Given the description of an element on the screen output the (x, y) to click on. 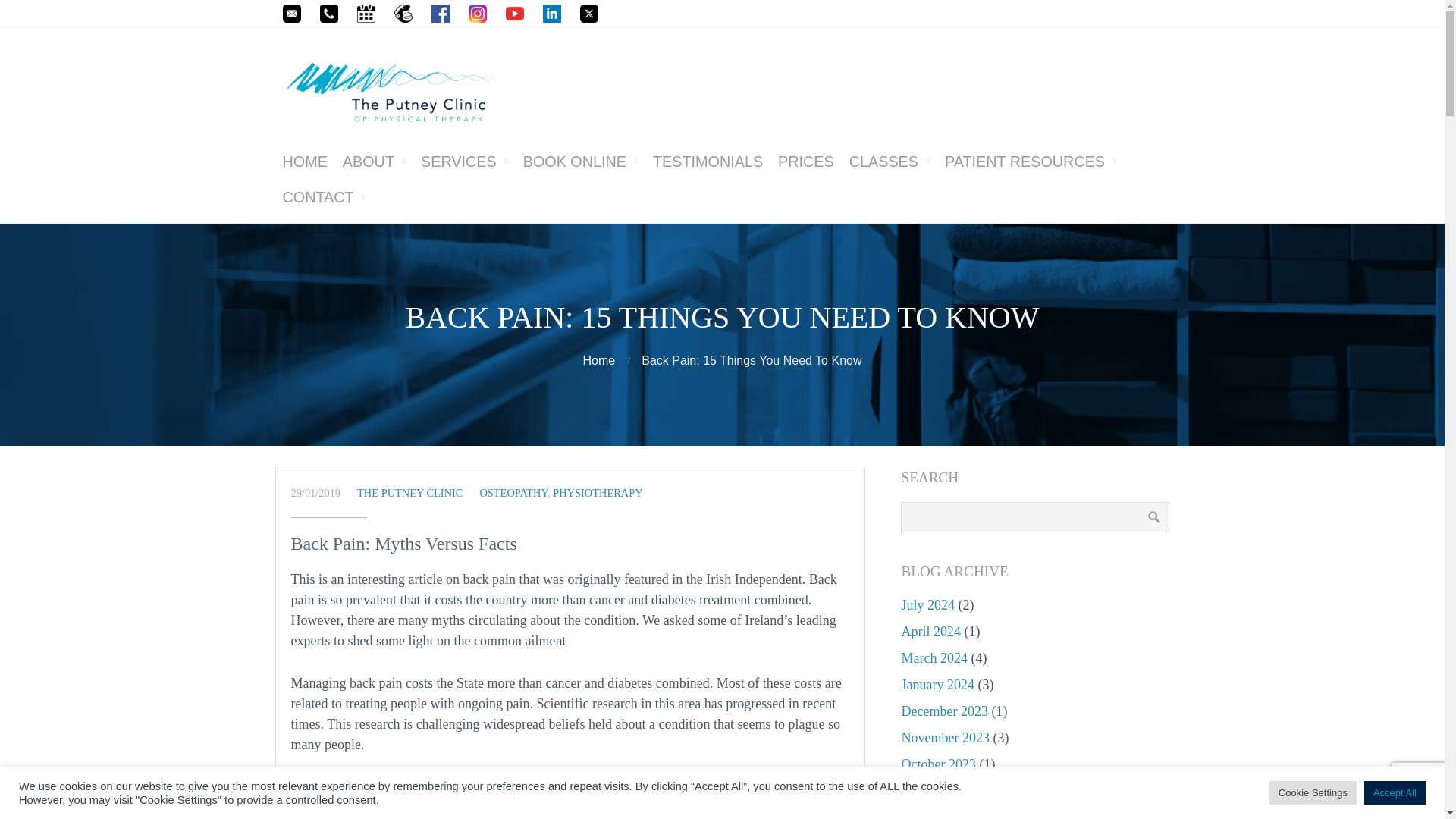
View all posts by The Putney Clinic (409, 492)
HOME (304, 161)
SERVICES (464, 161)
ABOUT (373, 161)
BOOK ONLINE (580, 161)
